Given the description of an element on the screen output the (x, y) to click on. 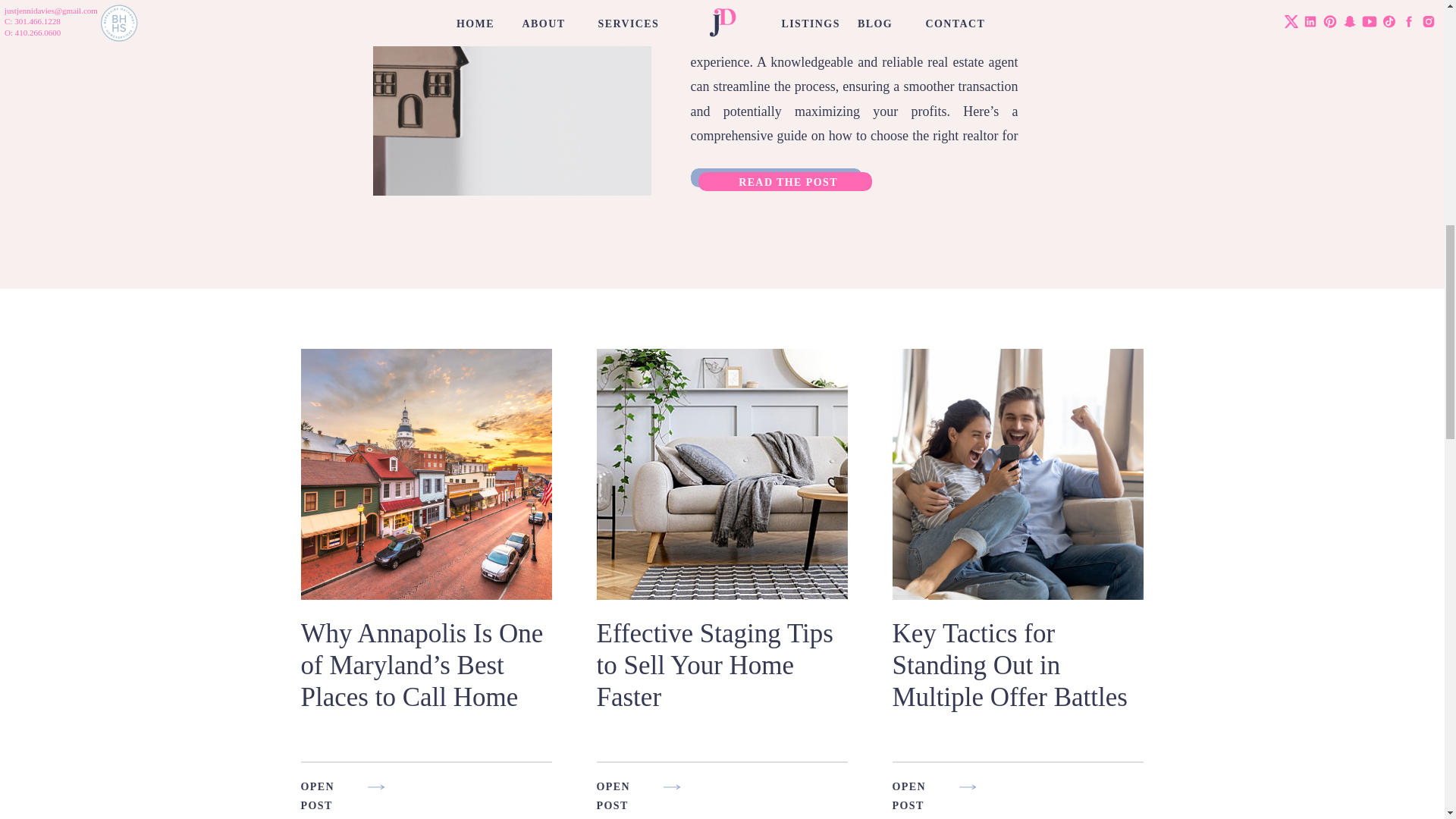
READ THE POST (788, 179)
How to Choose the Right Realtor for Your Needs (511, 97)
READ MORE (530, 644)
READ MORE (796, 644)
Effective Staging Tips to Sell Your Home Faster (796, 644)
How to Choose the Right Realtor for Your Needs (788, 179)
OPEN POST (330, 784)
OPEN POST (921, 784)
READ MORE (1092, 644)
Key Tactics for Standing Out in Multiple Offer Battles (1008, 665)
